Given the description of an element on the screen output the (x, y) to click on. 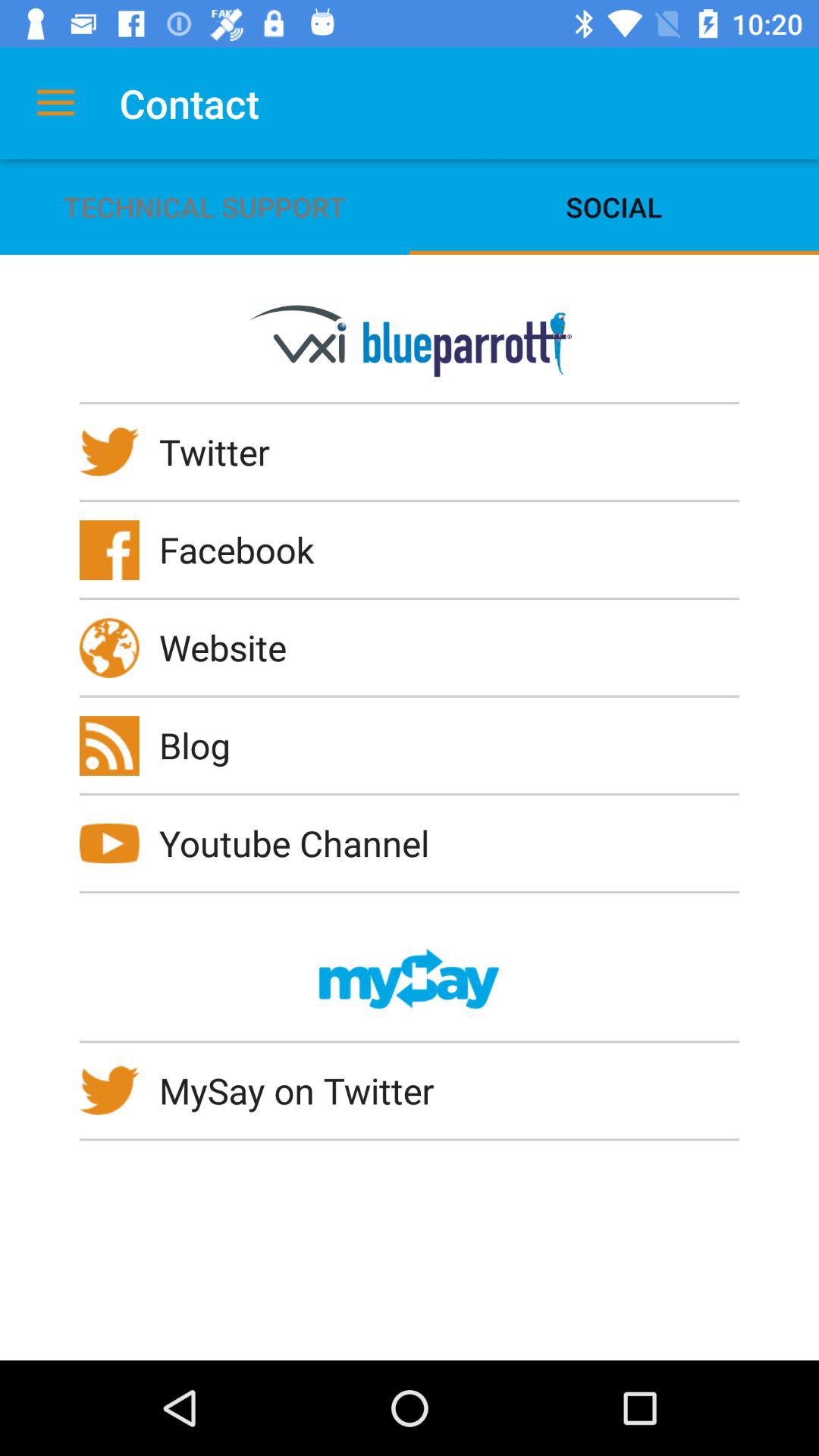
click icon above technical support icon (55, 103)
